Given the description of an element on the screen output the (x, y) to click on. 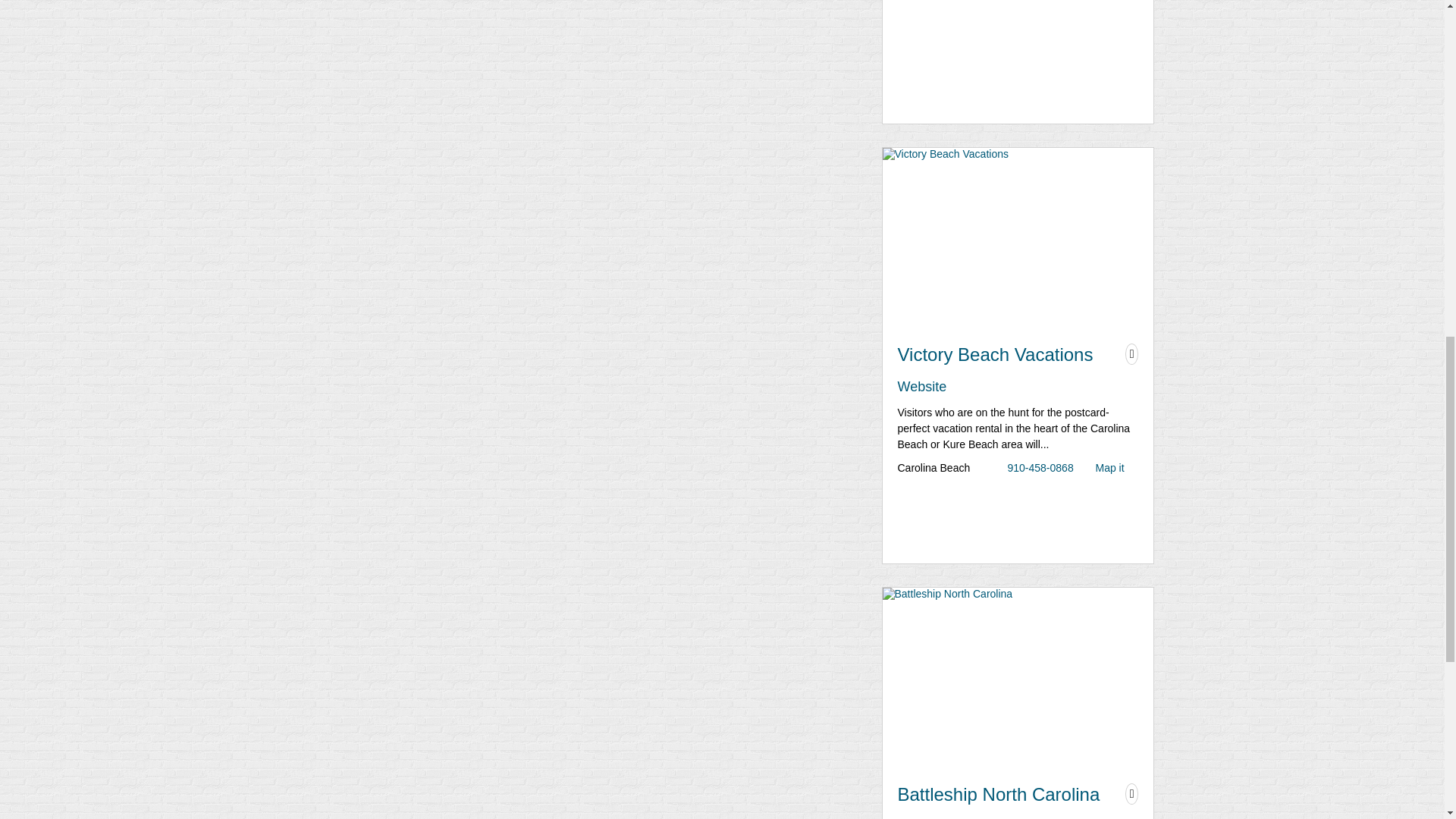
FareHarbor (1342, 64)
